Given the description of an element on the screen output the (x, y) to click on. 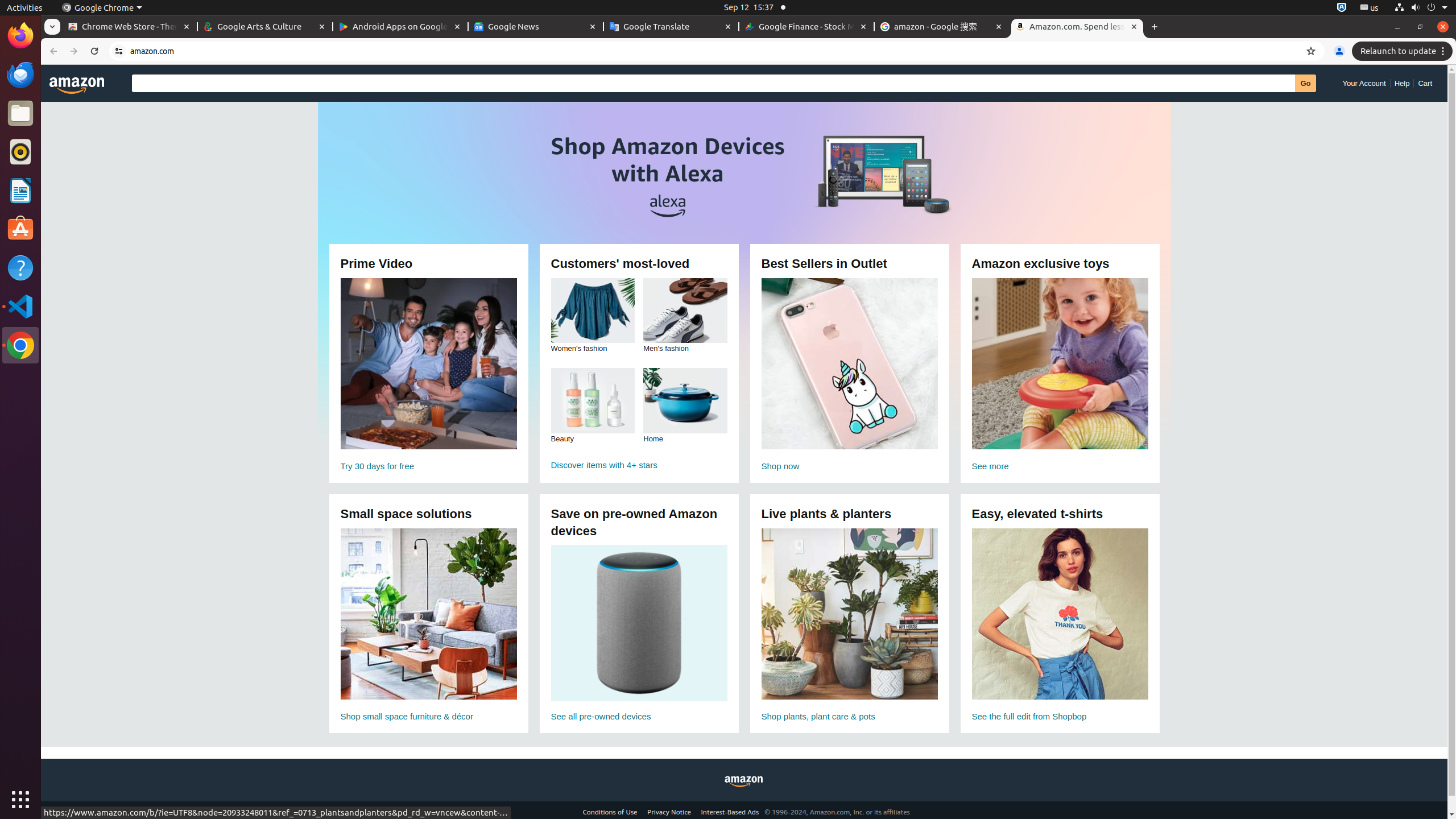
Forward Element type: push-button (73, 50)
Show Applications Element type: toggle-button (20, 799)
Android Apps on Google Play - Memory usage - 60.6 MB Element type: page-tab (400, 26)
Amazon.com. Spend less. Smile more. Element type: page-tab (1077, 26)
Visual Studio Code Element type: push-button (20, 306)
